Given the description of an element on the screen output the (x, y) to click on. 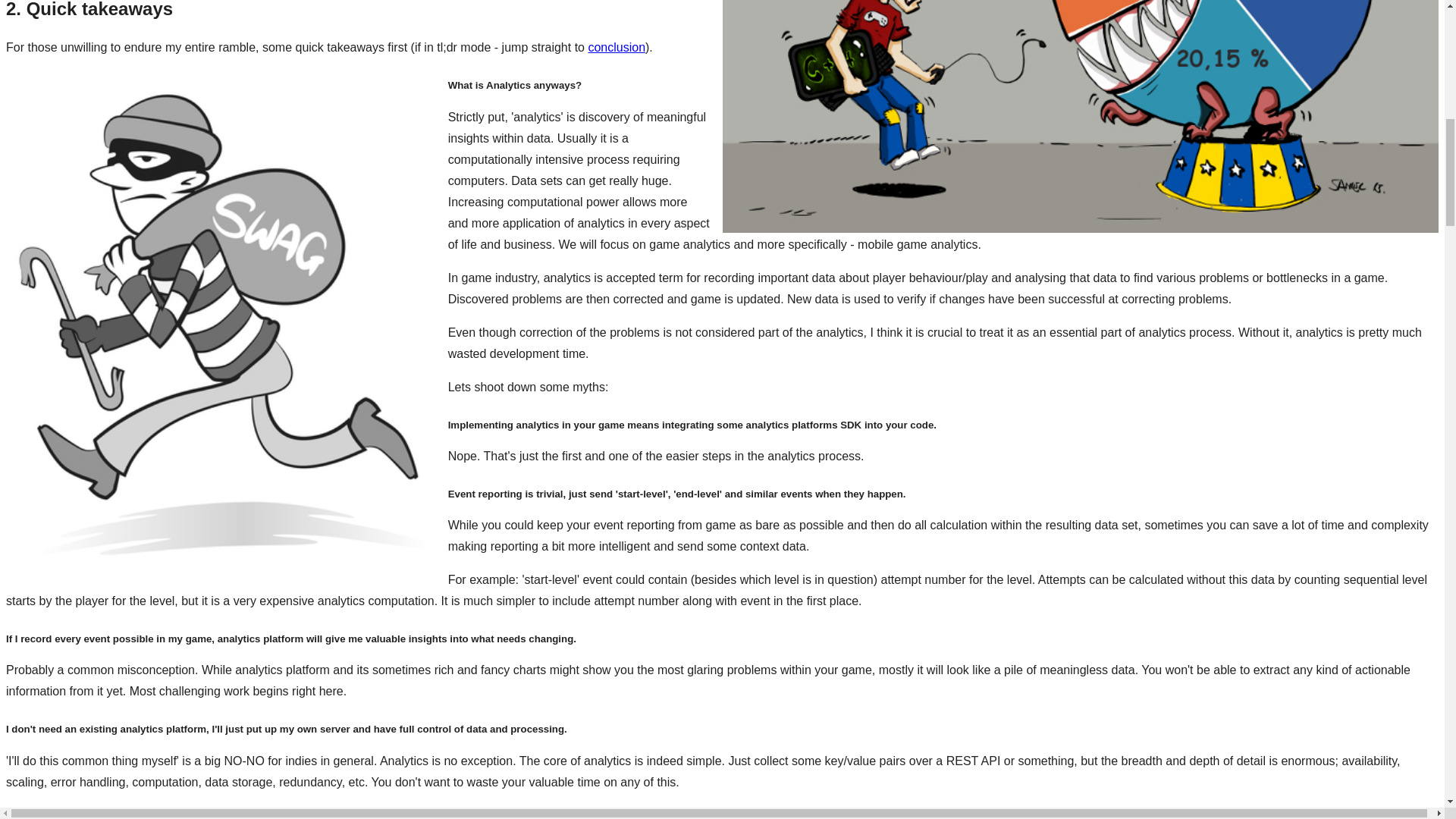
conclusion (616, 47)
